Given the description of an element on the screen output the (x, y) to click on. 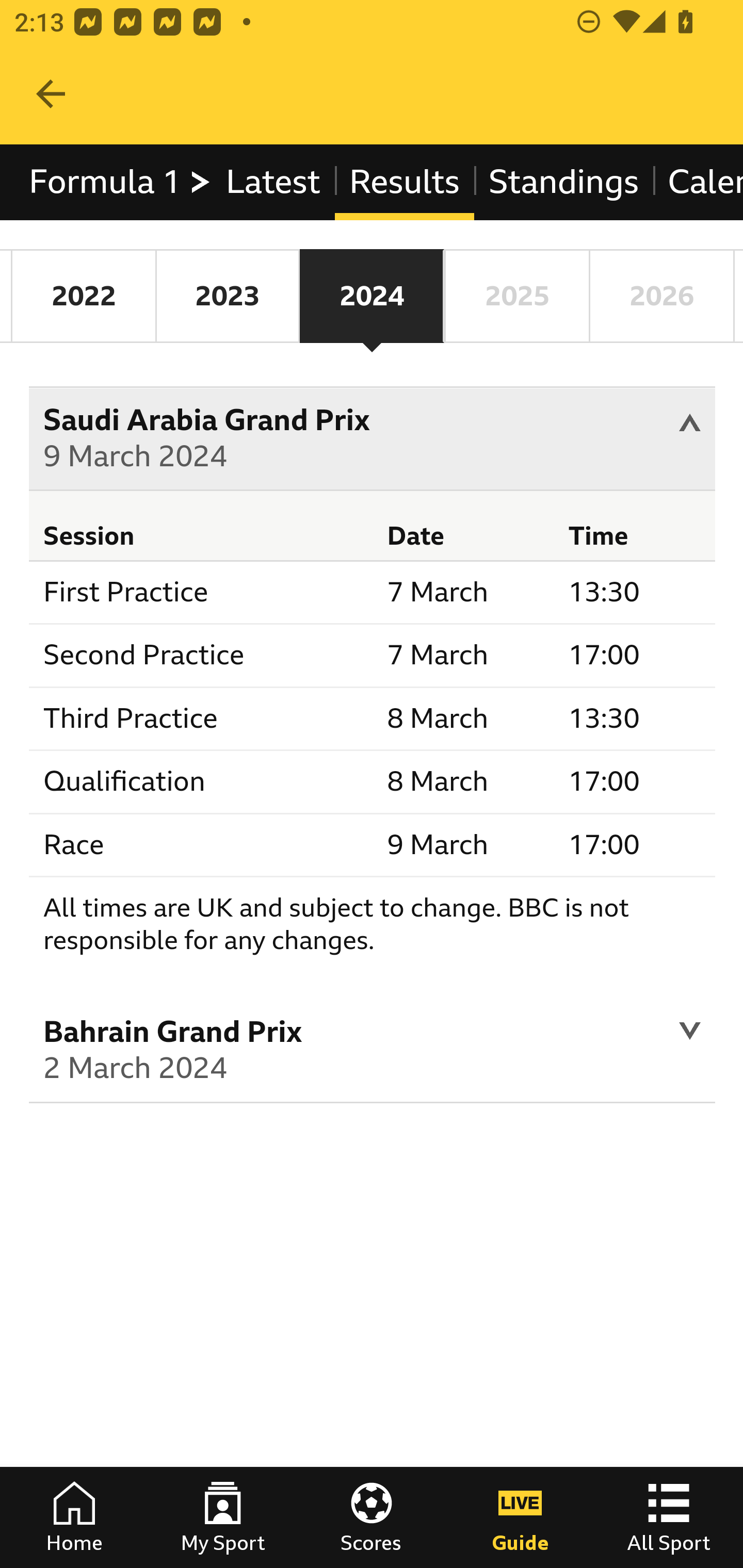
Navigate up (50, 93)
Formula 1  (120, 181)
Latest (272, 181)
Results (403, 181)
Standings (564, 181)
2022 (83, 296)
2023 (227, 296)
2024, Selected 2024 , Selected (371, 296)
Bahrain Grand Prix, Bahrain IC 2 March 2024 (372, 1052)
Home (74, 1517)
My Sport (222, 1517)
Scores (371, 1517)
All Sport (668, 1517)
